Given the description of an element on the screen output the (x, y) to click on. 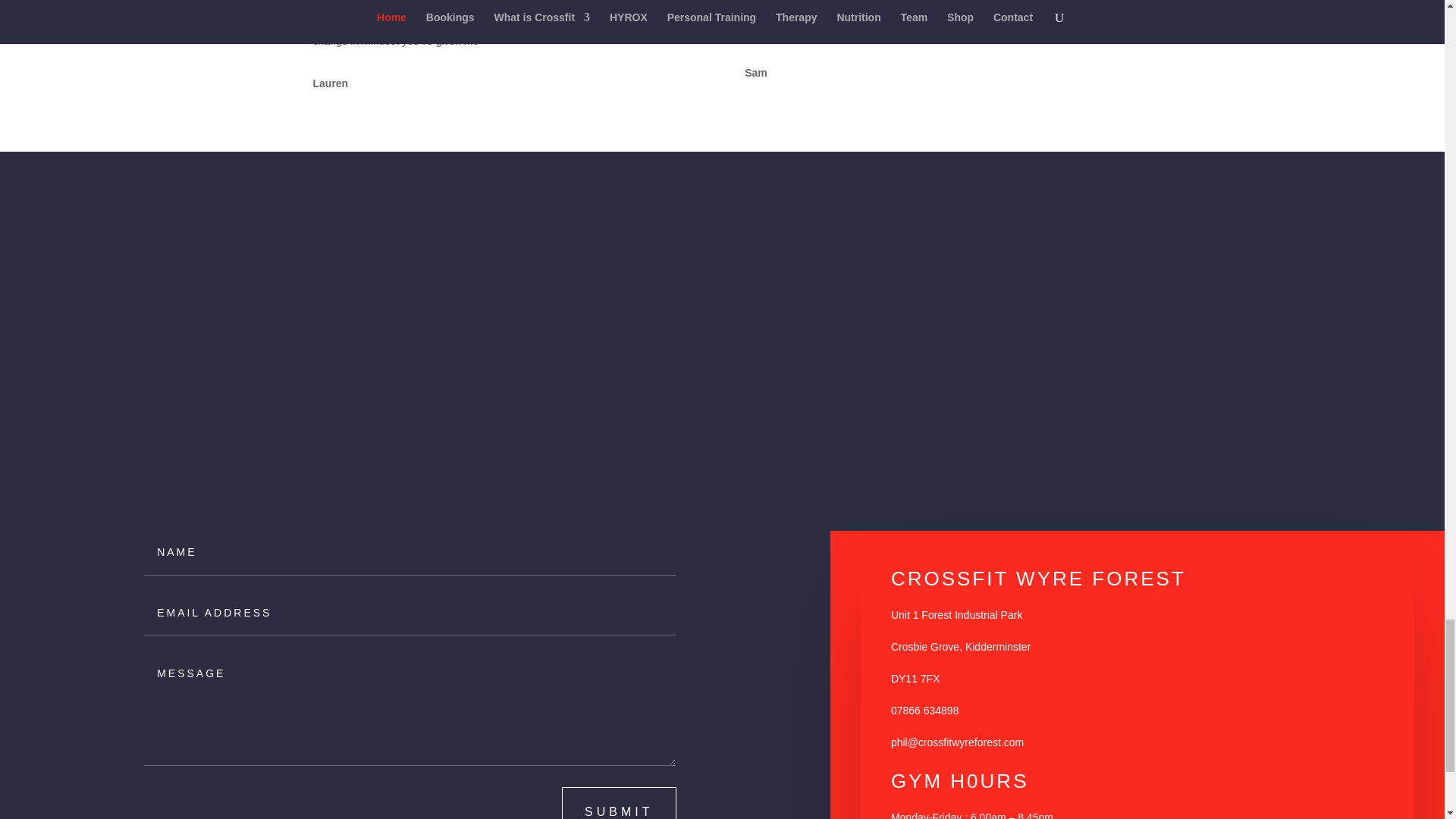
CrossFit Journal: The Performance-Based Lifestyle Resource (1069, 493)
